Given the description of an element on the screen output the (x, y) to click on. 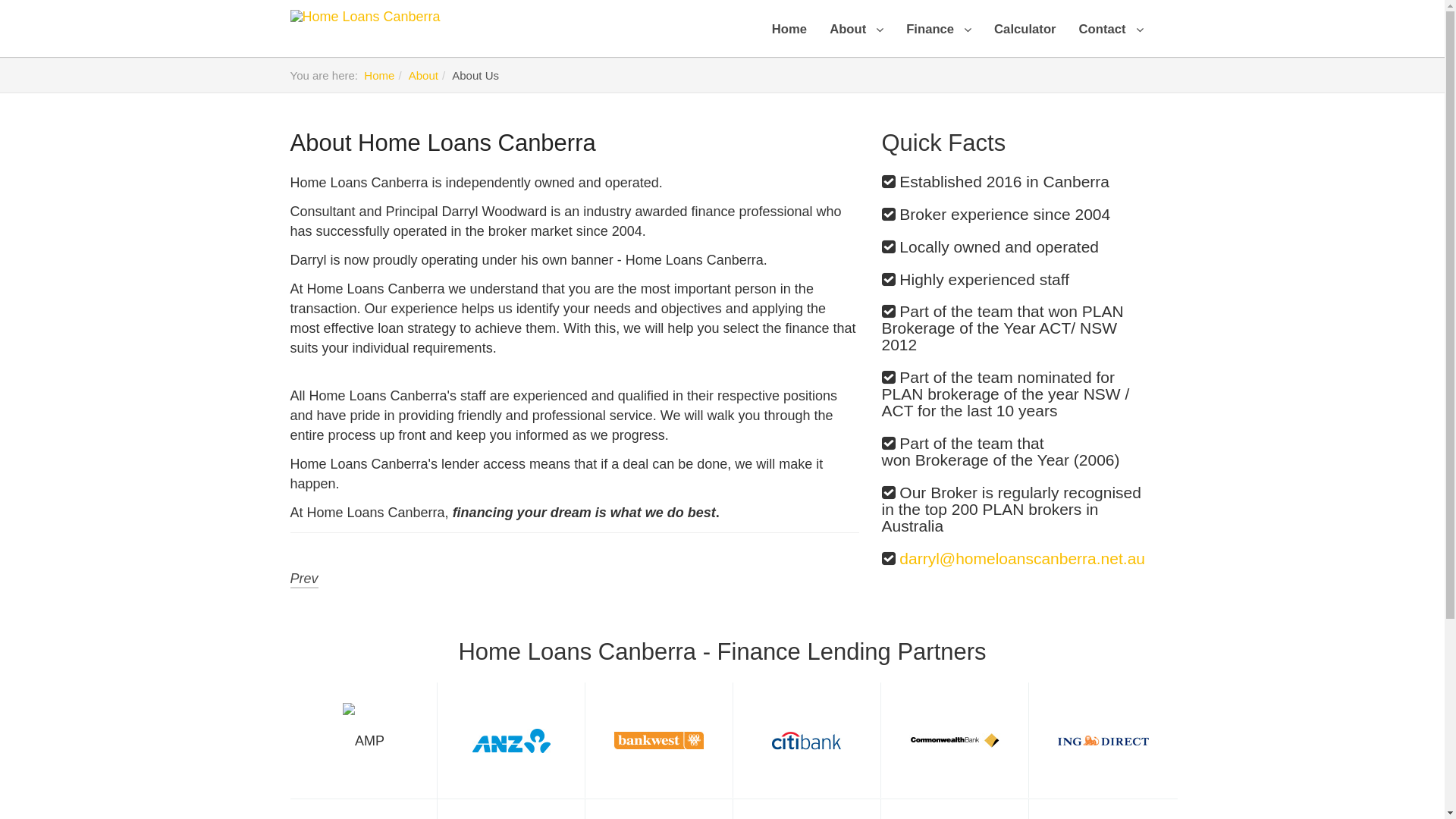
Calculator Element type: text (1024, 37)
About Element type: text (423, 75)
Contact Element type: text (1110, 37)
darryl@homeloanscanberra.net.au Element type: text (1022, 558)
Home Loans Canberra Element type: hover (364, 18)
Home Element type: text (789, 37)
Prev Element type: text (303, 579)
About Home Loans Canberra Element type: text (442, 142)
About Element type: text (856, 37)
Finance Element type: text (938, 37)
Home Element type: text (379, 75)
